Given the description of an element on the screen output the (x, y) to click on. 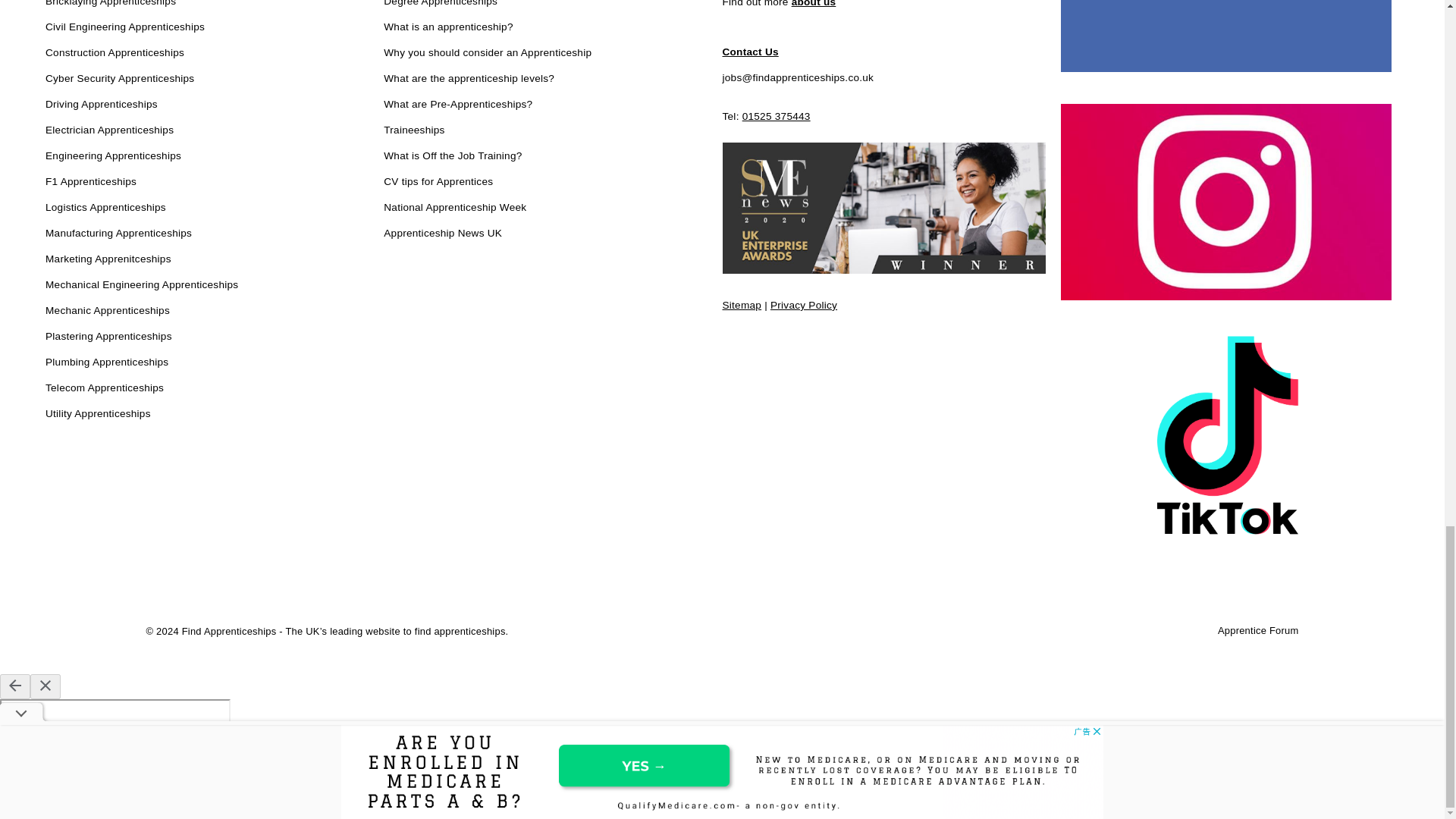
Driving Apprenticeships (101, 105)
Civil Engineering Apprenticeships (125, 27)
Bricklaying Apprenticeships (110, 6)
Cyber Security Apprenticeships (119, 79)
Engineering Apprenticeships (112, 157)
Construction Apprenticeships (114, 53)
Electrician Apprenticeships (109, 130)
